Given the description of an element on the screen output the (x, y) to click on. 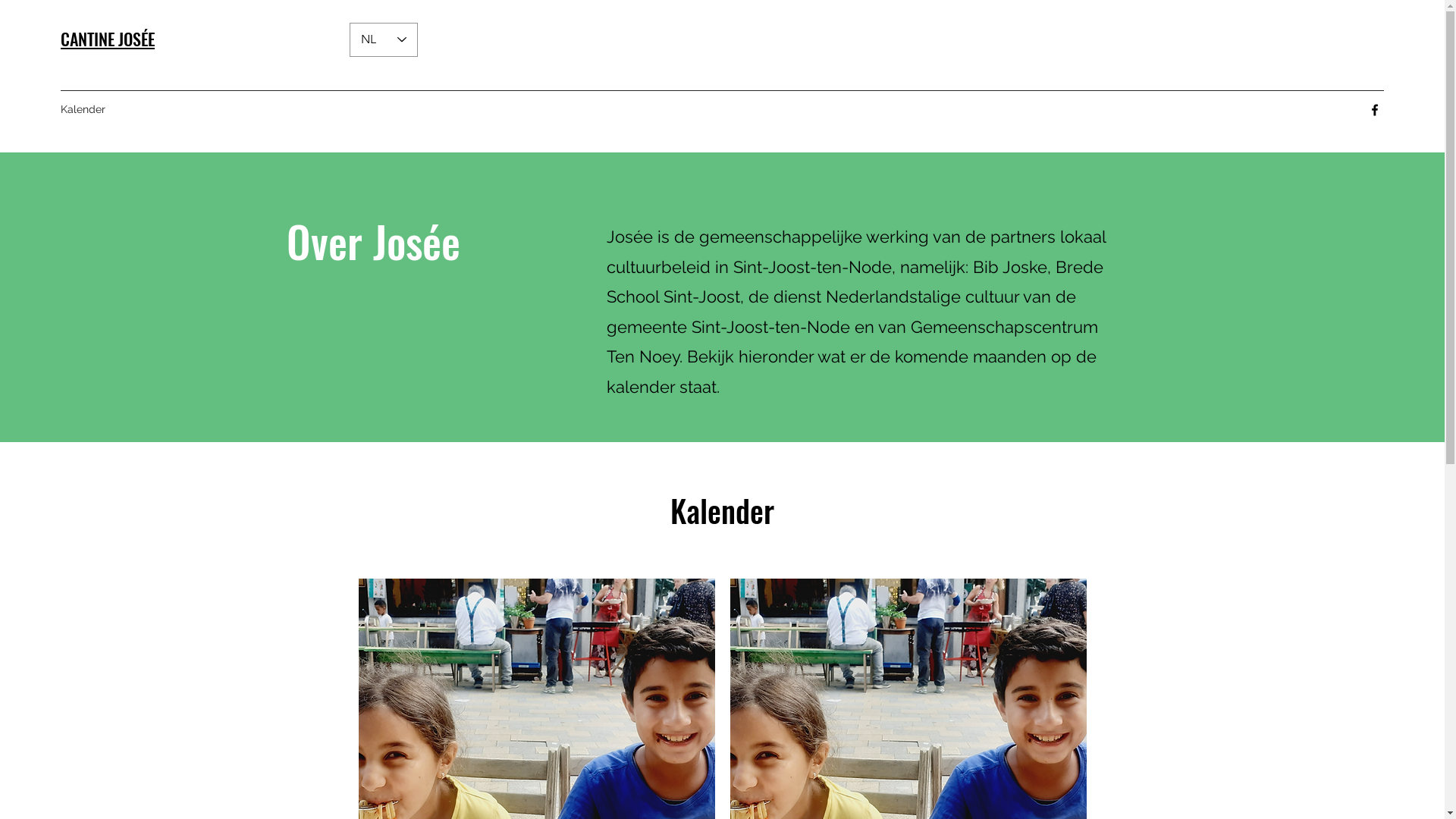
Kalender Element type: text (82, 108)
